Given the description of an element on the screen output the (x, y) to click on. 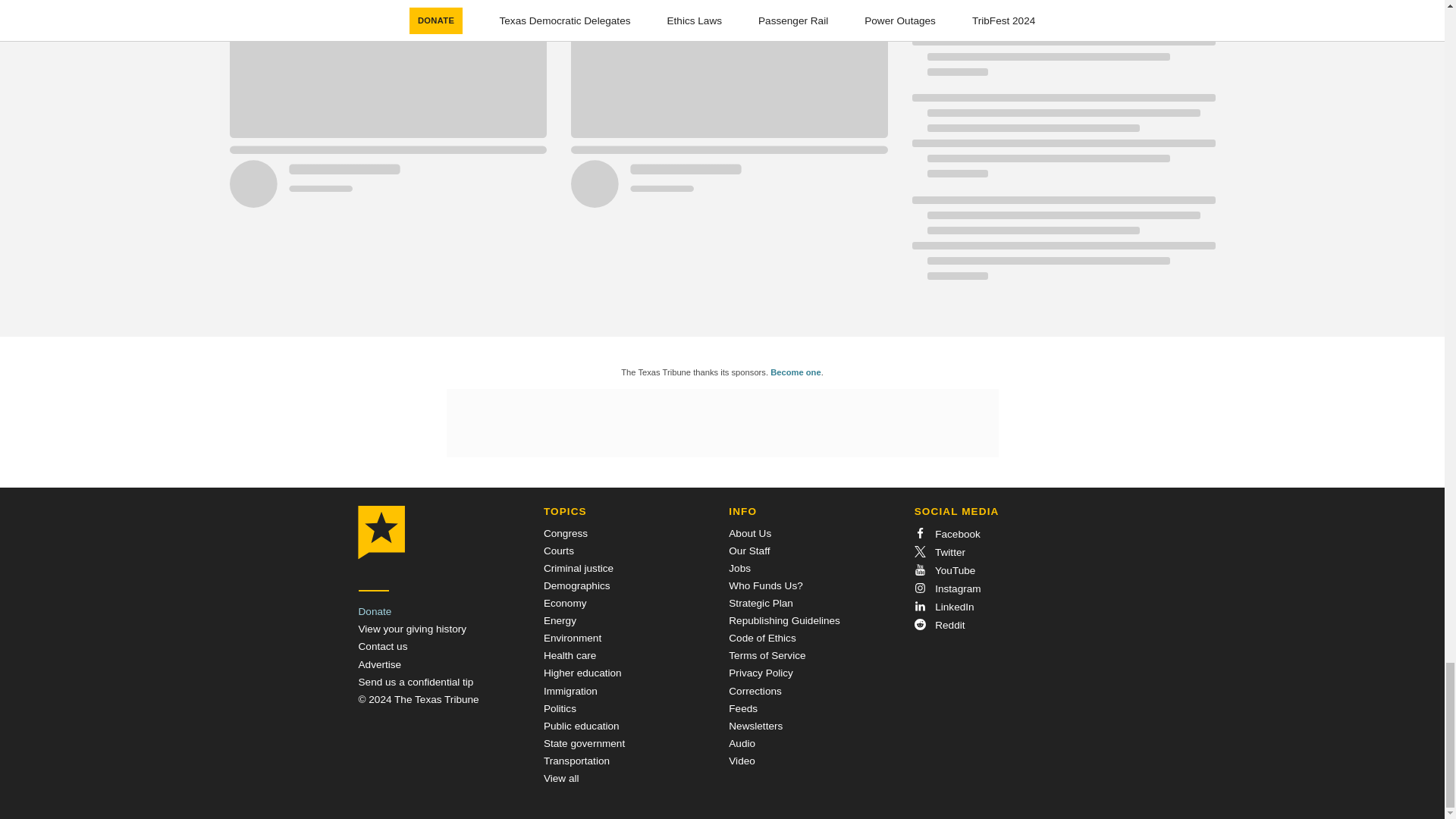
Corrections (755, 690)
Contact us (382, 645)
Privacy Policy (761, 672)
Donate (374, 611)
Strategic Plan (761, 603)
Advertise (379, 664)
Terms of Service (767, 655)
Republishing Guidelines (784, 620)
About Us (750, 532)
Who Funds Us? (765, 585)
Code of Ethics (761, 637)
Newsletters (756, 726)
Send a Tip (415, 681)
Feeds (743, 708)
View your giving history (411, 628)
